Given the description of an element on the screen output the (x, y) to click on. 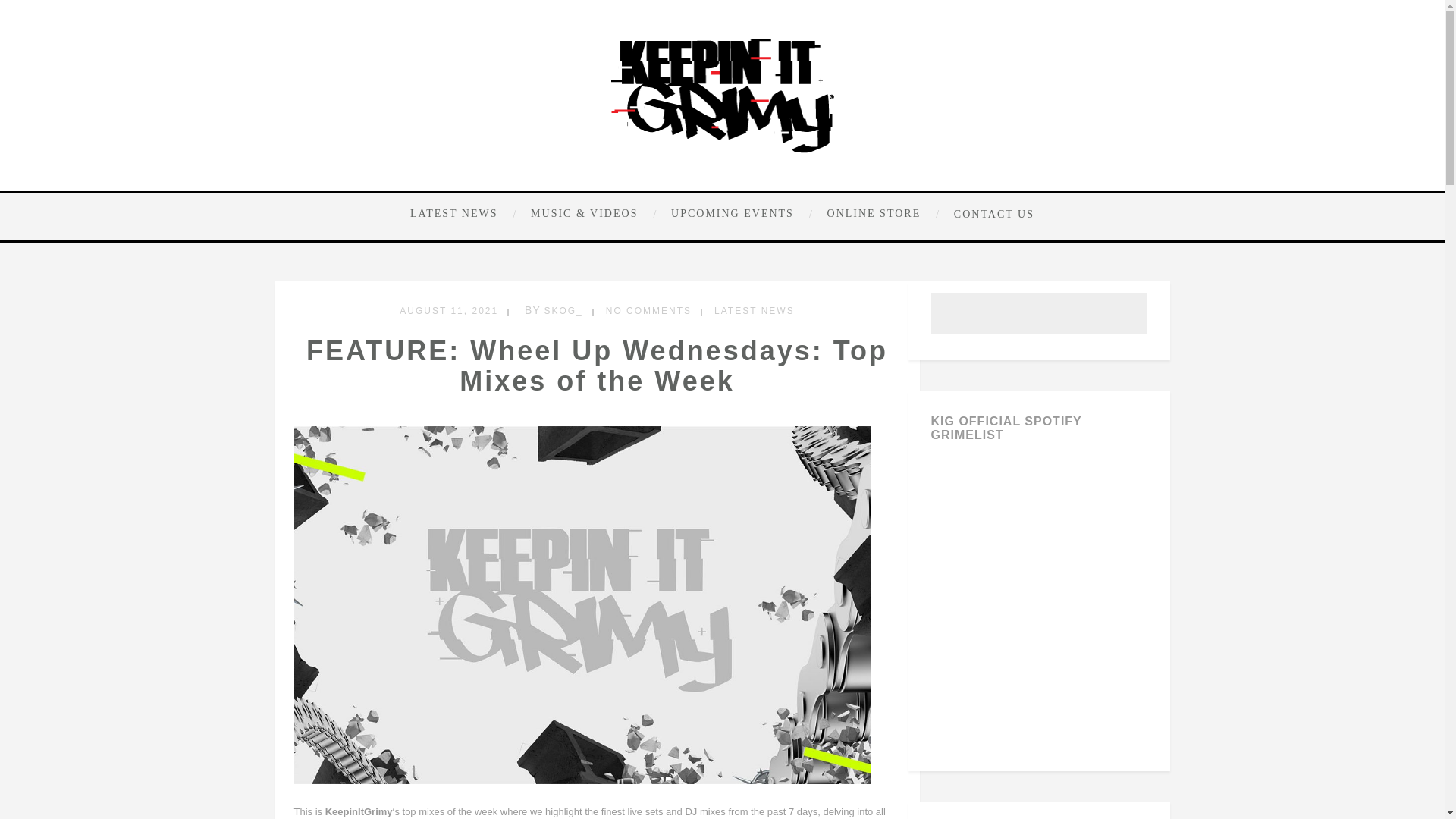
FEATURE: Wheel Up Wednesdays: Top Mixes of the Week (596, 365)
ONLINE STORE (881, 213)
LATEST NEWS (464, 213)
CONTACT US (989, 213)
UPCOMING EVENTS (739, 213)
NO COMMENTS (648, 310)
AUGUST 11, 2021 (447, 310)
LATEST NEWS (754, 310)
